Given the description of an element on the screen output the (x, y) to click on. 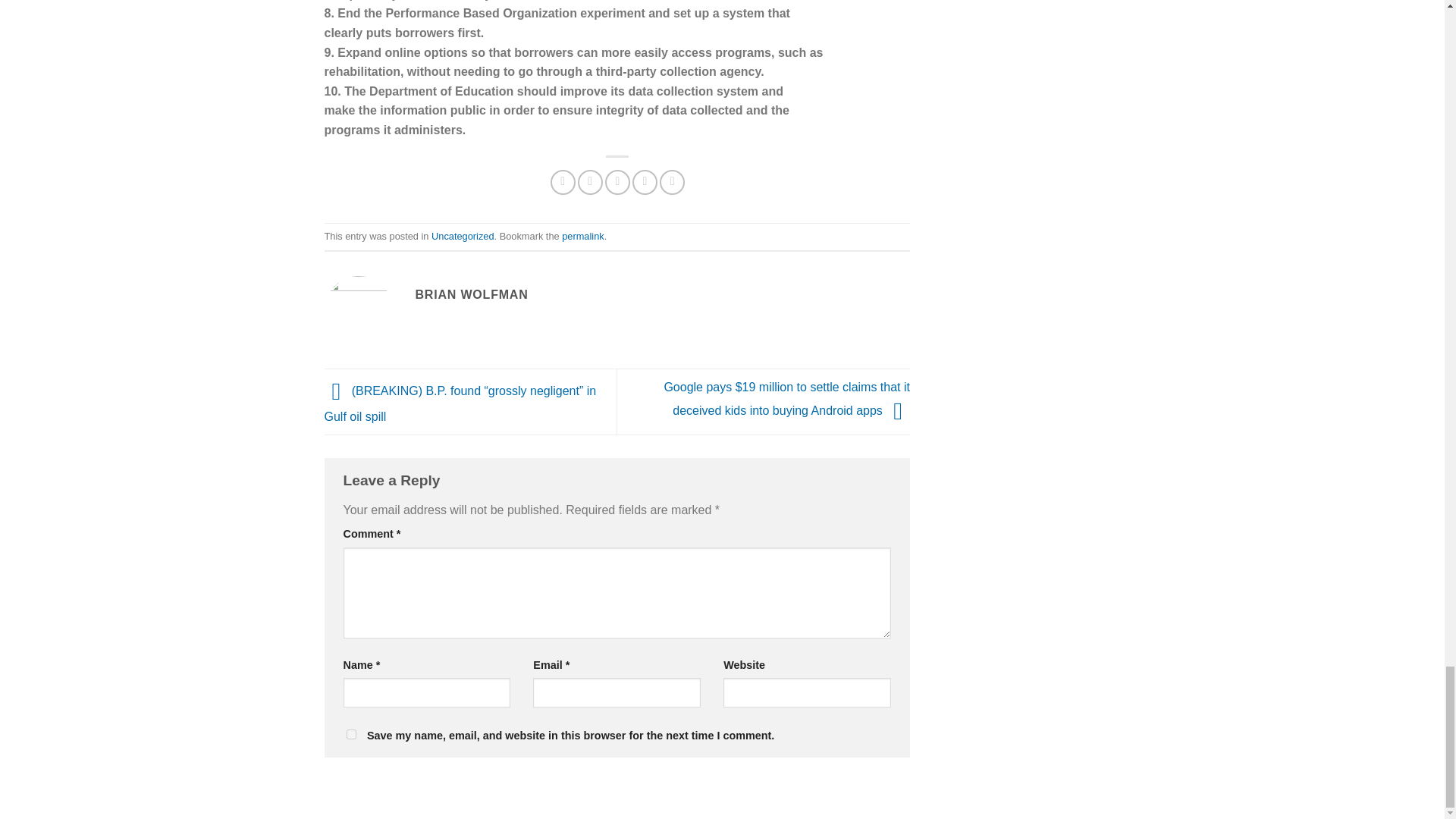
permalink (583, 235)
Share on Facebook (562, 181)
Share on Twitter (590, 181)
Pin on Pinterest (644, 181)
Uncategorized (462, 235)
Share on LinkedIn (671, 181)
Email to a Friend (617, 181)
yes (350, 734)
